Given the description of an element on the screen output the (x, y) to click on. 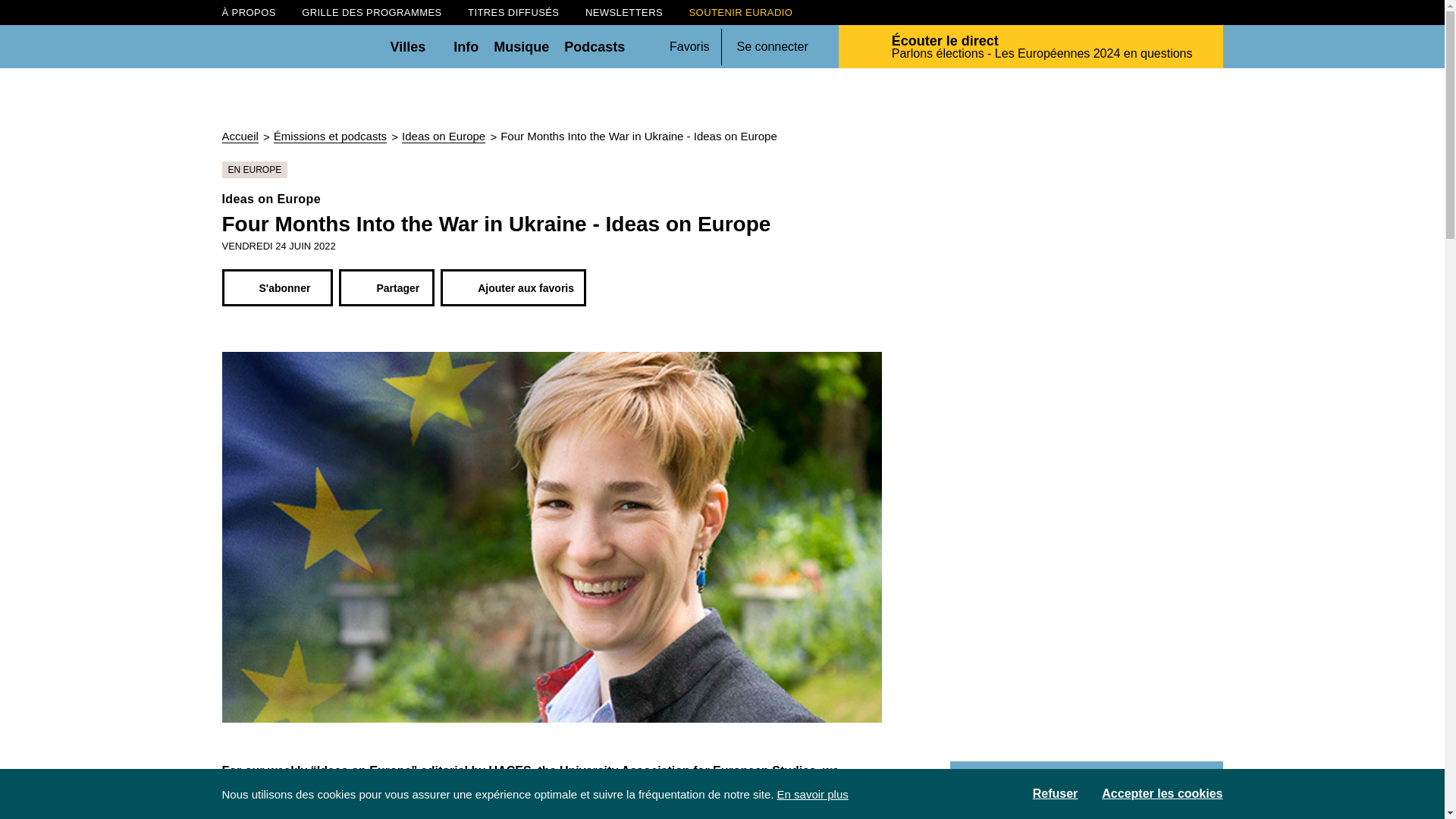
Favoris (689, 46)
Info (465, 46)
Musique (520, 46)
SOUTENIR EURADIO (740, 12)
Se connecter (772, 46)
NEWSLETTERS (623, 12)
Podcasts (594, 46)
GRILLE DES PROGRAMMES (371, 12)
